Given the description of an element on the screen output the (x, y) to click on. 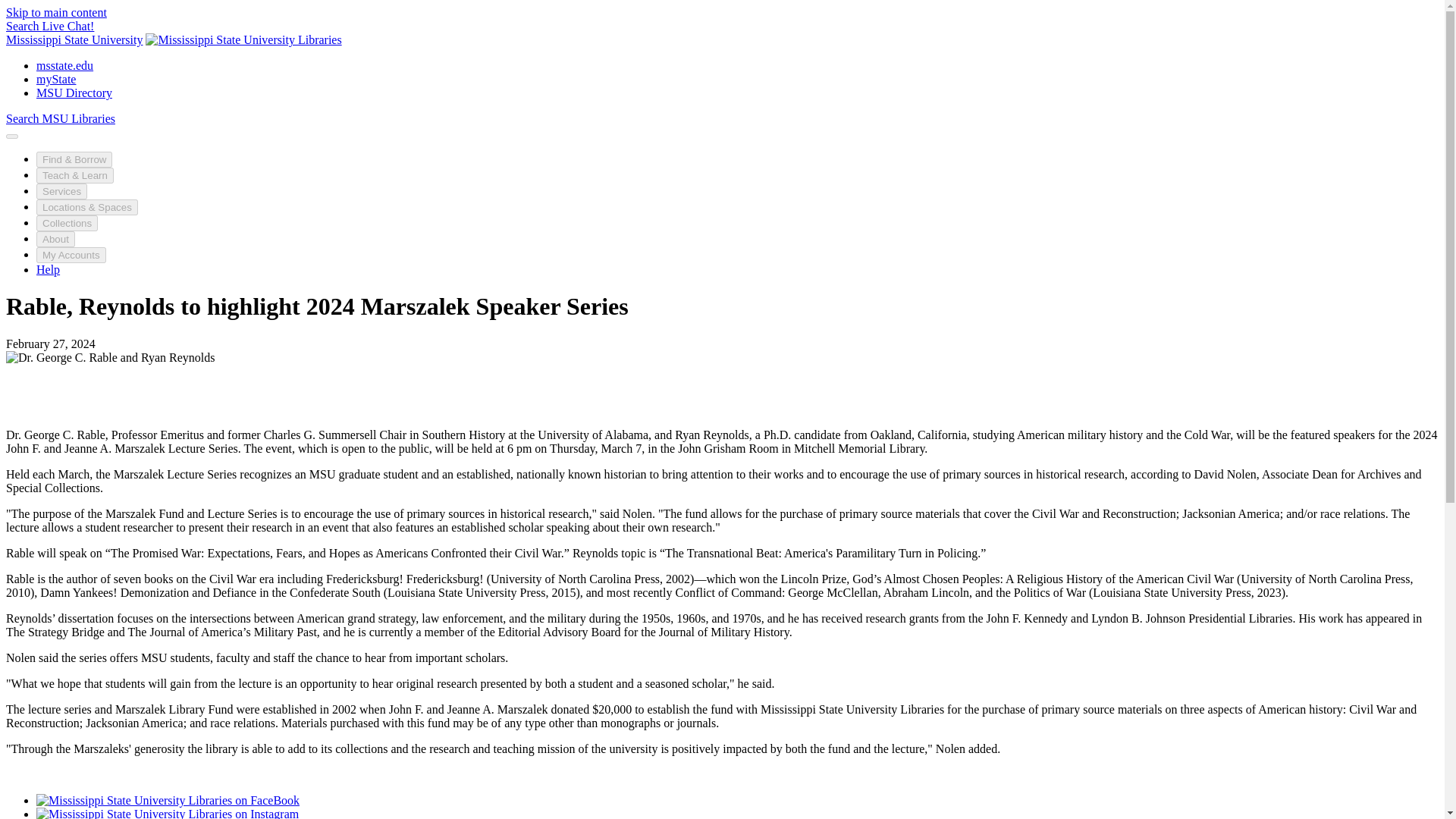
Find Mississippi State University Libraries on Facebook (167, 799)
Find Mississippi State University Libraries on Instagram (167, 813)
Mississippi State University (73, 39)
Mississippi State University (73, 39)
Search (23, 25)
Skip to main content (55, 11)
MSU Directory (74, 92)
Search MSU Libraries (60, 118)
Mississippi State University Libraries (242, 39)
myState (55, 78)
